Given the description of an element on the screen output the (x, y) to click on. 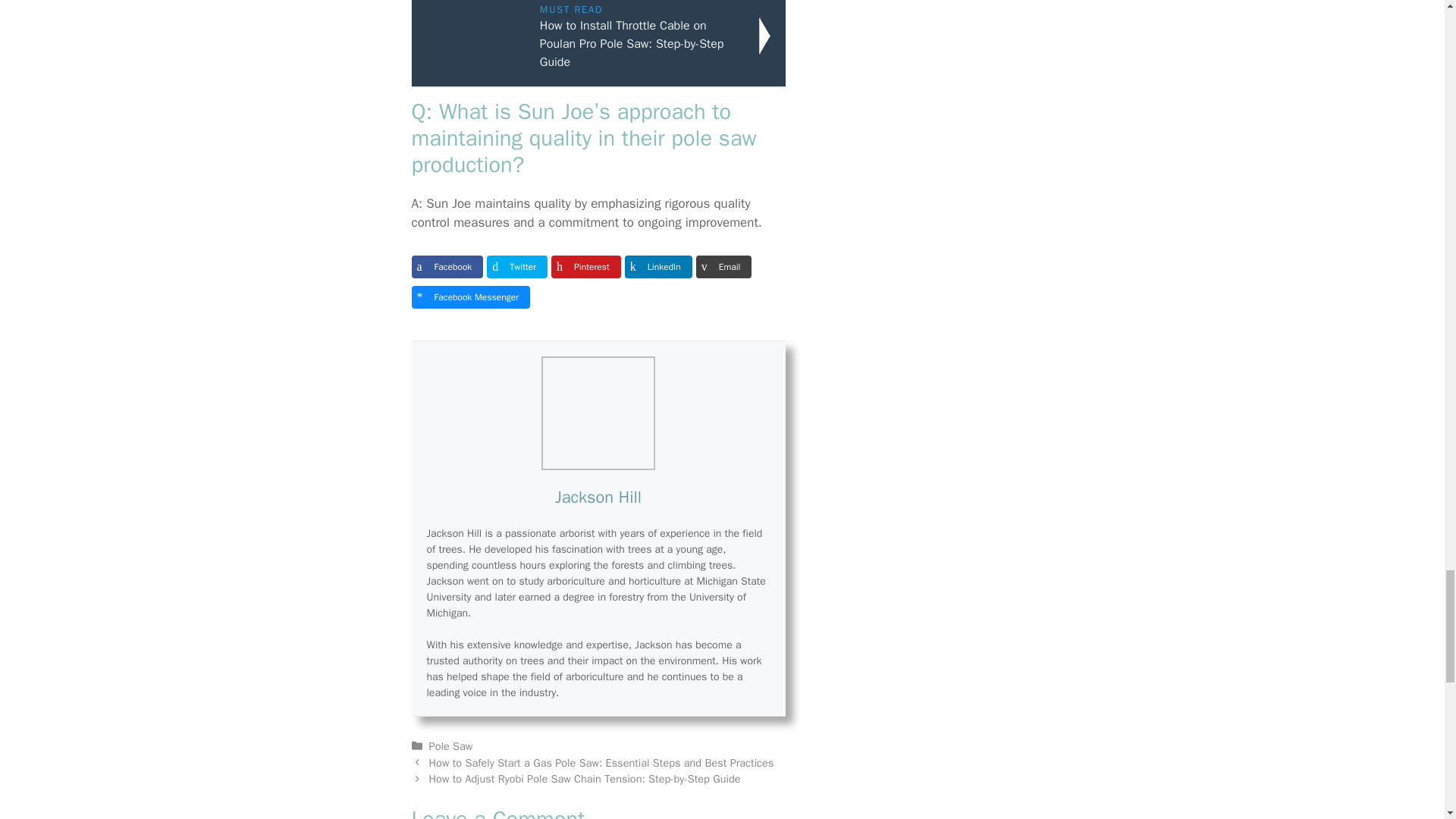
Facebook (446, 266)
Pinterest (586, 266)
Share on Facebook (446, 266)
Facebook Messenger (469, 296)
Share on Twitter (516, 266)
Share on Pinterest (586, 266)
Share on LinkedIn (658, 266)
Email (723, 266)
LinkedIn (658, 266)
Twitter (516, 266)
